Given the description of an element on the screen output the (x, y) to click on. 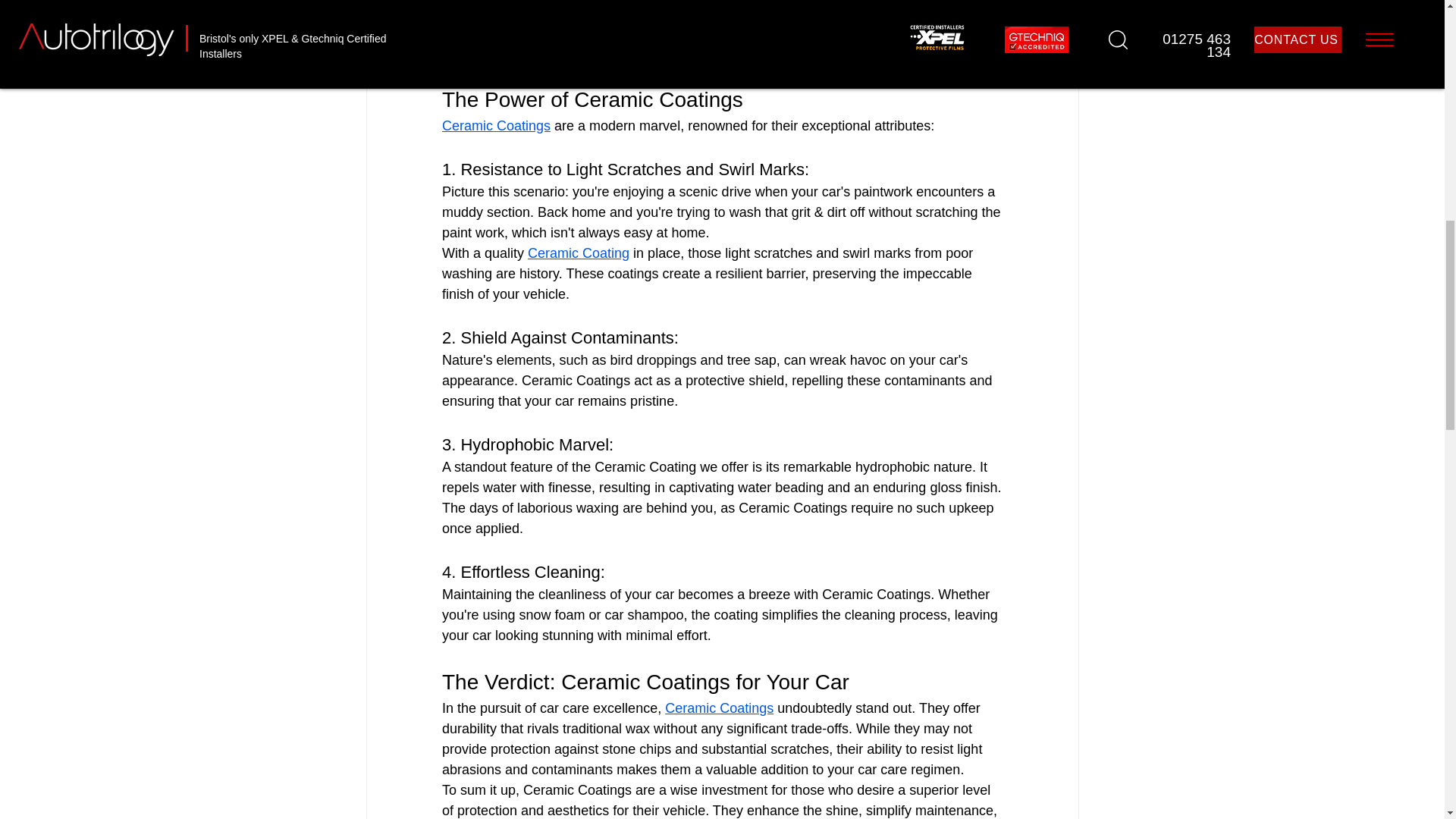
Ceramic Coatings (719, 708)
Ceramic Coatings (495, 125)
Ceramic Coating (577, 253)
